Given the description of an element on the screen output the (x, y) to click on. 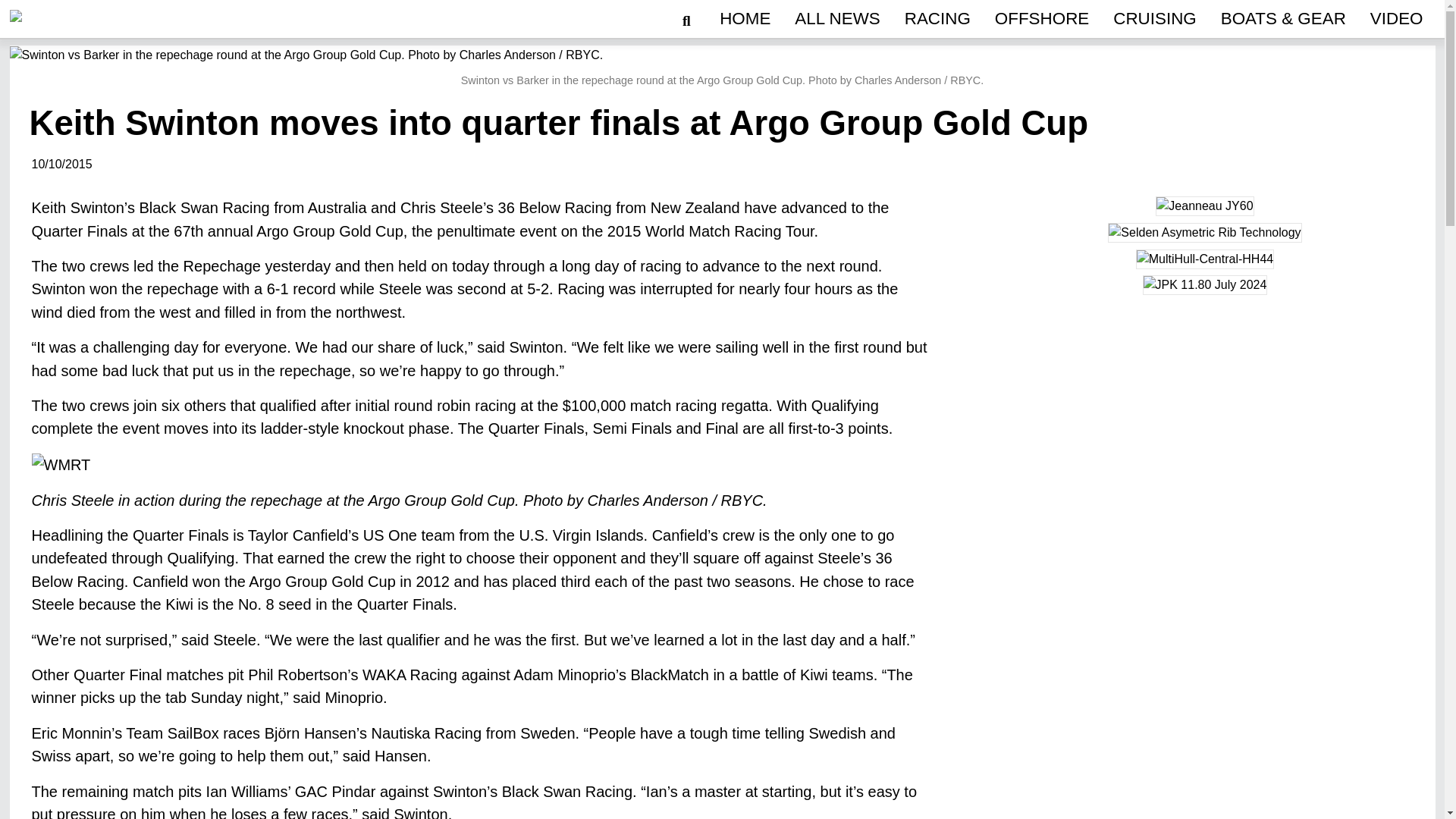
HOME (744, 18)
Video (1396, 18)
VIDEO (1396, 18)
Cruising (1154, 18)
Racing (937, 18)
ALL NEWS (837, 18)
Home (744, 18)
RACING (937, 18)
All News (837, 18)
OFFSHORE (1041, 18)
